Given the description of an element on the screen output the (x, y) to click on. 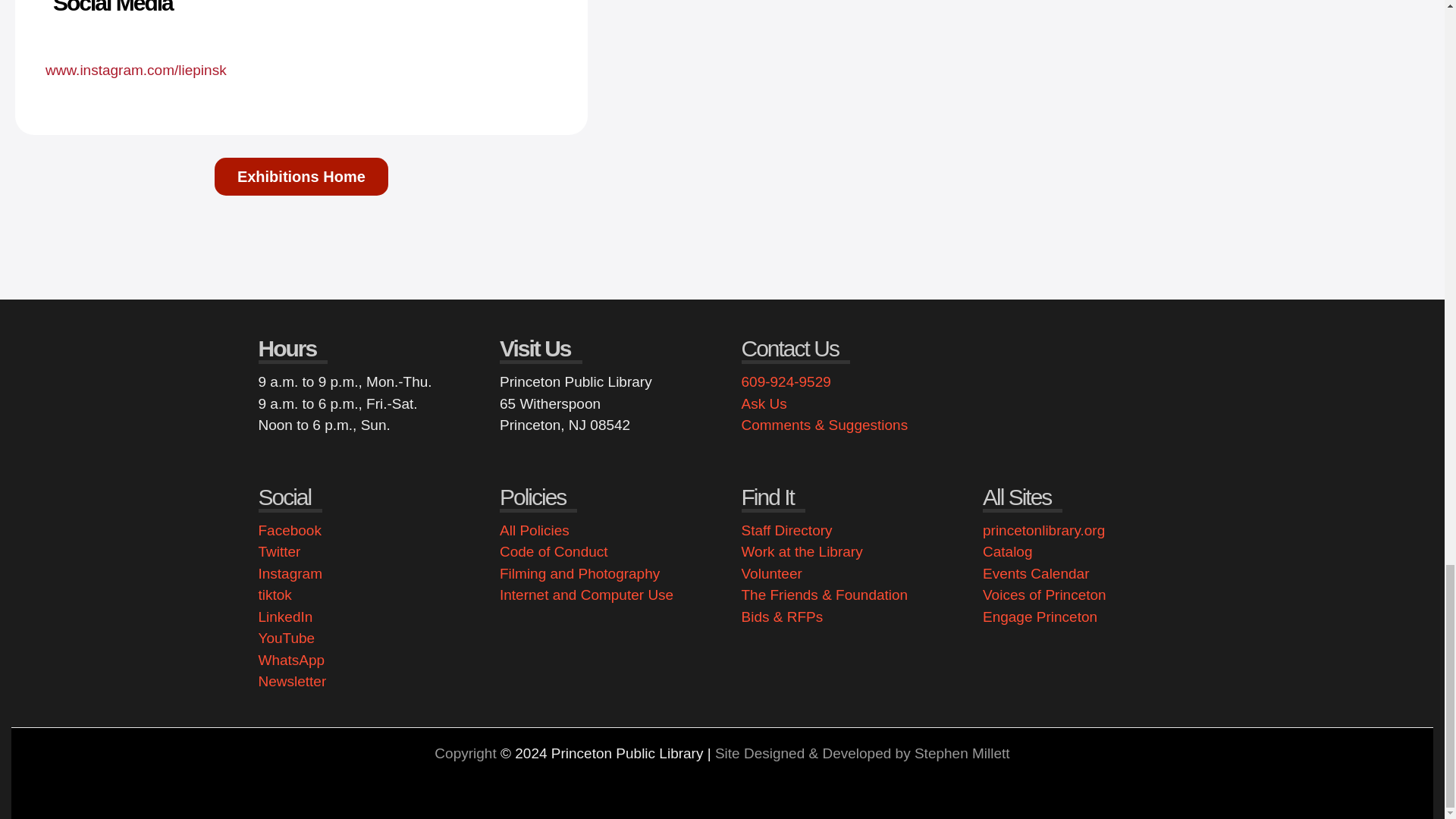
Exhibitions Home (301, 176)
